Given the description of an element on the screen output the (x, y) to click on. 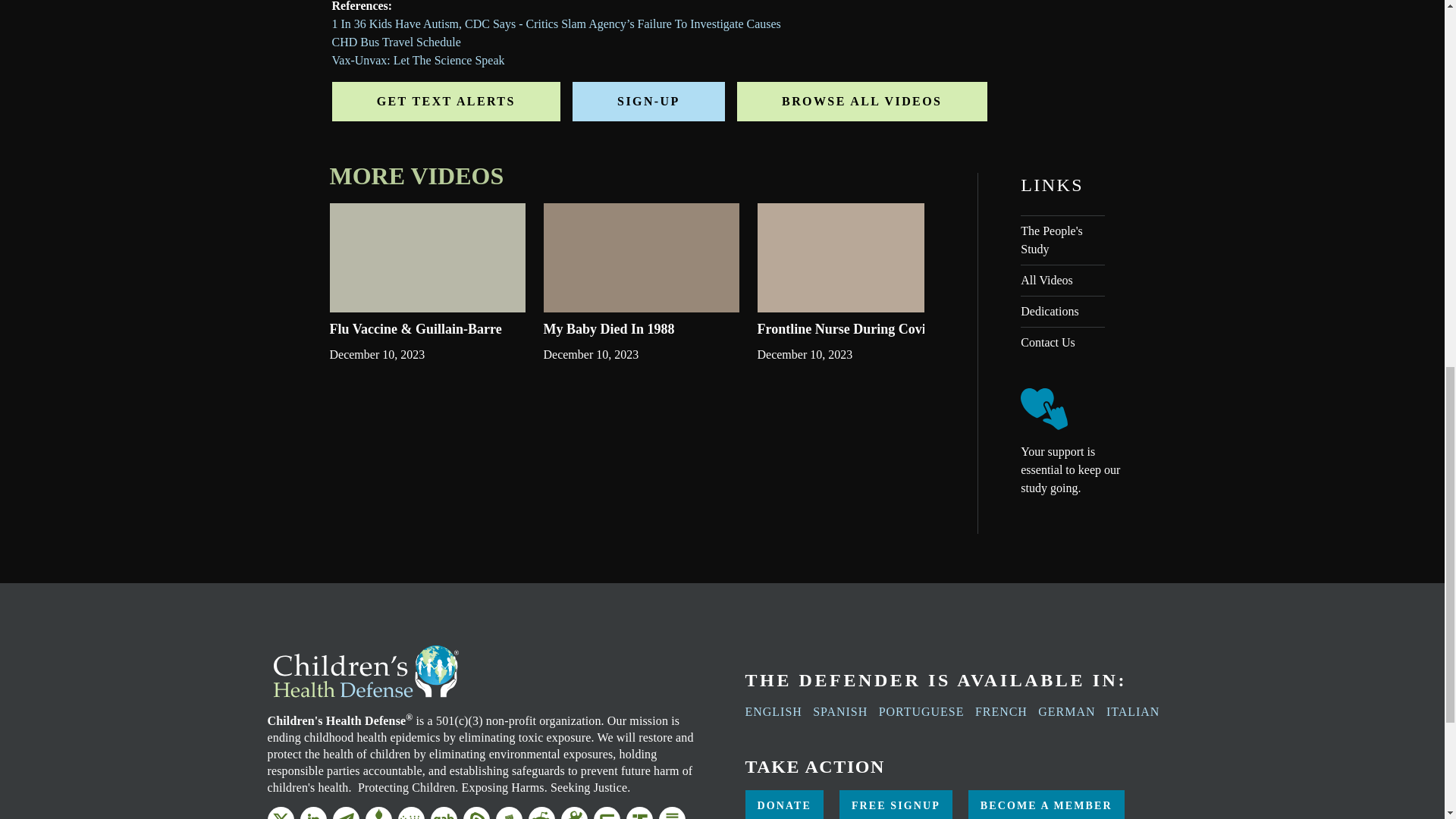
GET TEXT ALERTS (445, 101)
SIGN-UP (648, 101)
Vax-Unvax: Let The Science Speak (418, 60)
BROWSE ALL VIDEOS (861, 101)
CHD Bus Travel Schedule (396, 42)
